Given the description of an element on the screen output the (x, y) to click on. 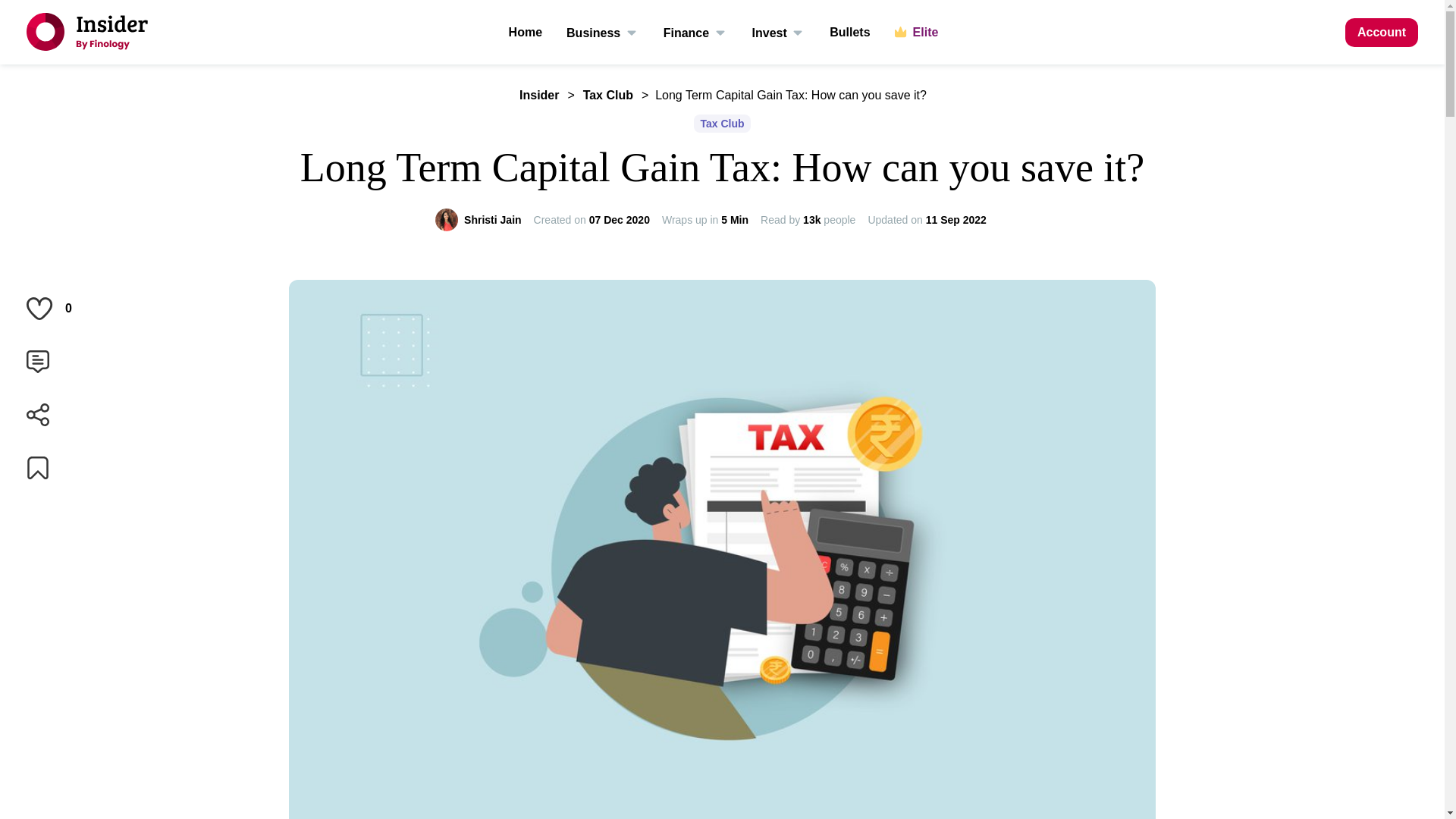
Business (602, 31)
Finance (695, 31)
Home (524, 31)
Account (1381, 32)
Invest (779, 31)
Elite (917, 32)
Bullets (849, 31)
